Given the description of an element on the screen output the (x, y) to click on. 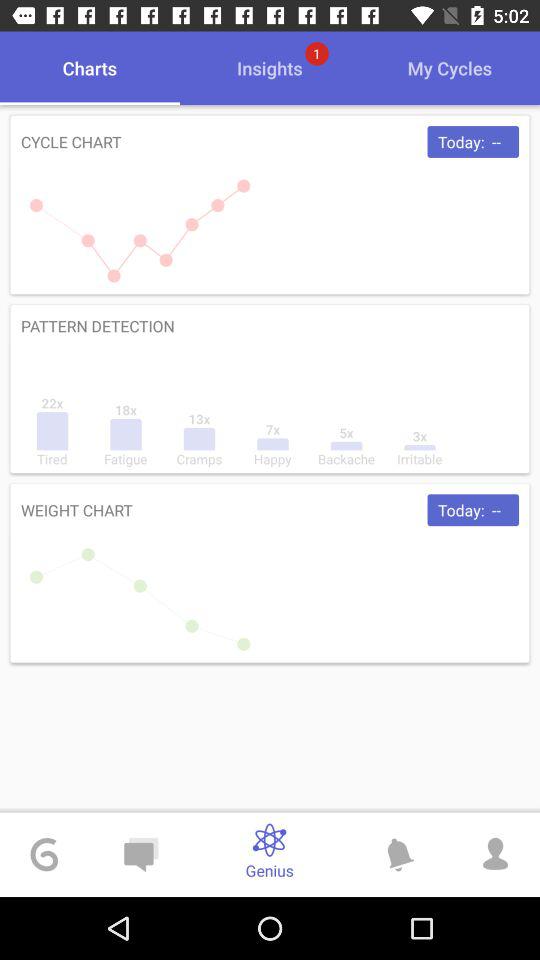
click on chat icon (140, 855)
click on weight chart option (269, 573)
